Given the description of an element on the screen output the (x, y) to click on. 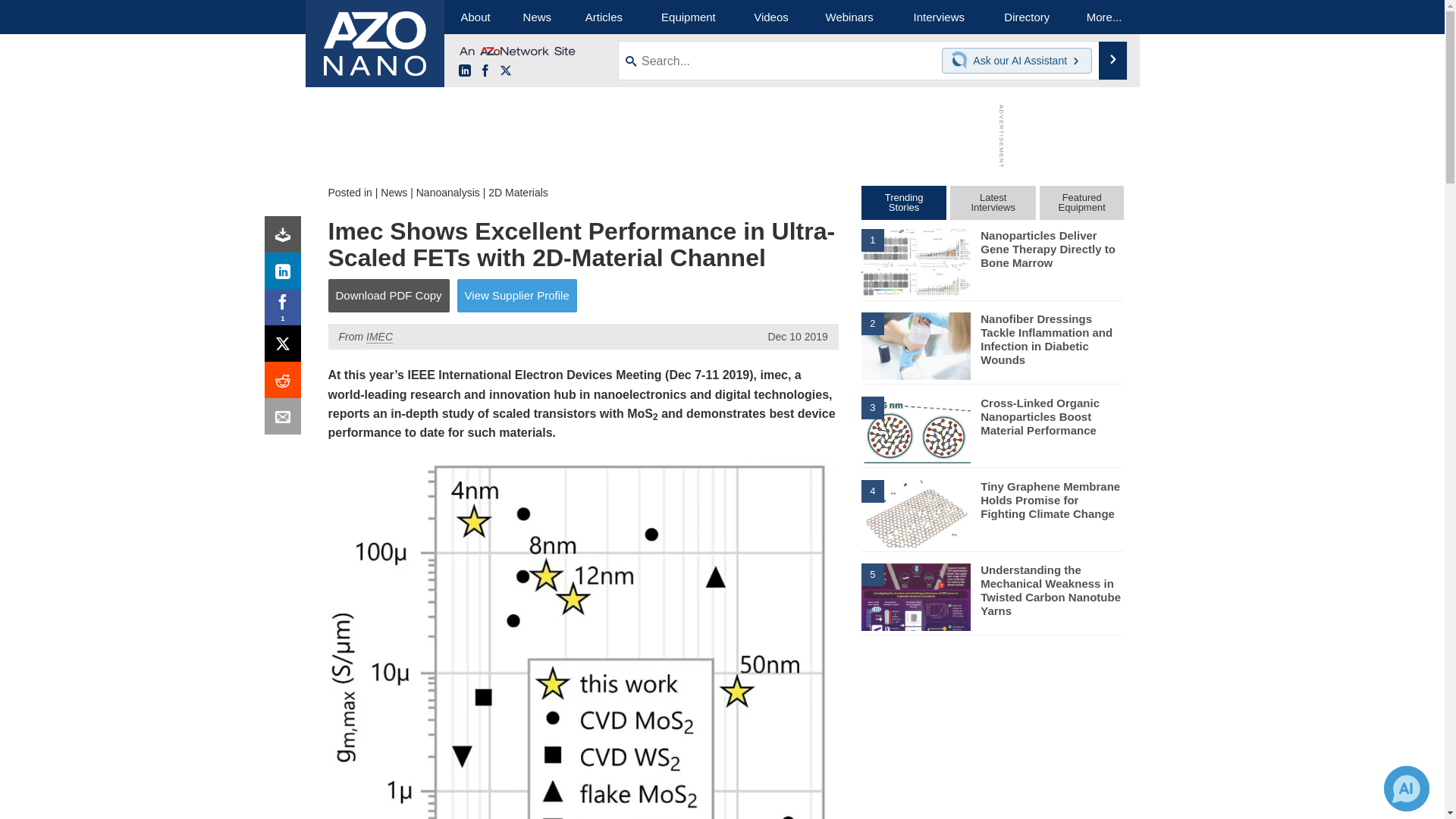
News (536, 17)
X (505, 71)
Articles (603, 17)
Download PDF copy (285, 238)
X (285, 348)
Facebook (285, 311)
News (393, 192)
Reddit (285, 384)
About (475, 17)
Chat with our AI Assistant Ask our AI Assistant (1017, 60)
LinkedIn (285, 275)
Interviews (939, 17)
More... (1104, 17)
Directory (1026, 17)
